Given the description of an element on the screen output the (x, y) to click on. 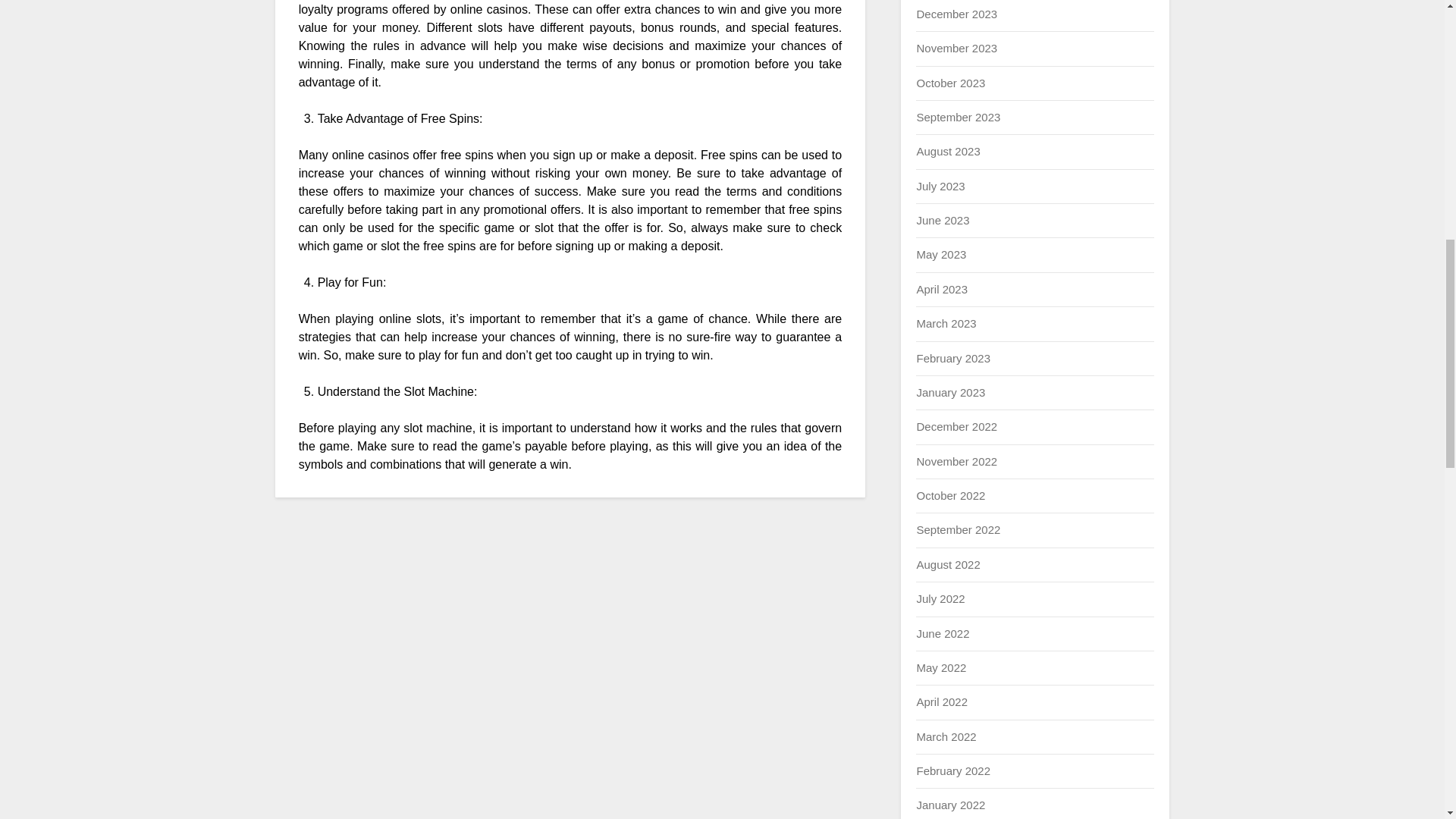
July 2022 (939, 598)
November 2023 (956, 47)
October 2023 (950, 82)
April 2022 (941, 701)
December 2022 (956, 426)
March 2023 (945, 323)
February 2023 (952, 358)
December 2023 (956, 13)
June 2022 (942, 632)
January 2023 (950, 391)
July 2023 (939, 185)
May 2023 (940, 254)
August 2022 (947, 563)
May 2022 (940, 667)
September 2023 (957, 116)
